Given the description of an element on the screen output the (x, y) to click on. 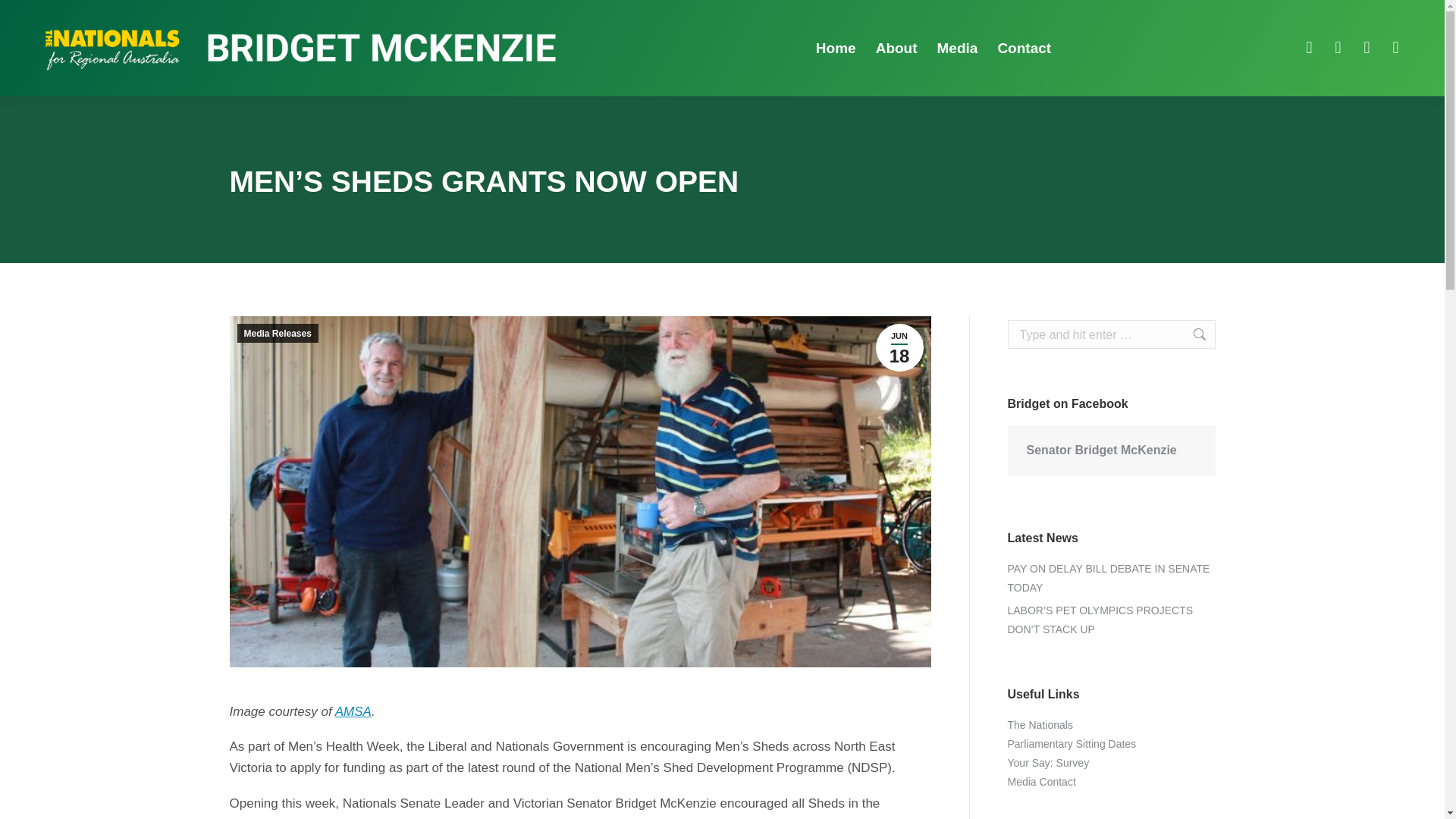
AMSA (352, 710)
YouTube page opens in new window (1395, 47)
Linkedin page opens in new window (1366, 47)
YouTube page opens in new window (1395, 47)
11:00 am (899, 347)
Go! (1191, 334)
X page opens in new window (1337, 47)
Go! (899, 347)
Facebook page opens in new window (1191, 334)
